Given the description of an element on the screen output the (x, y) to click on. 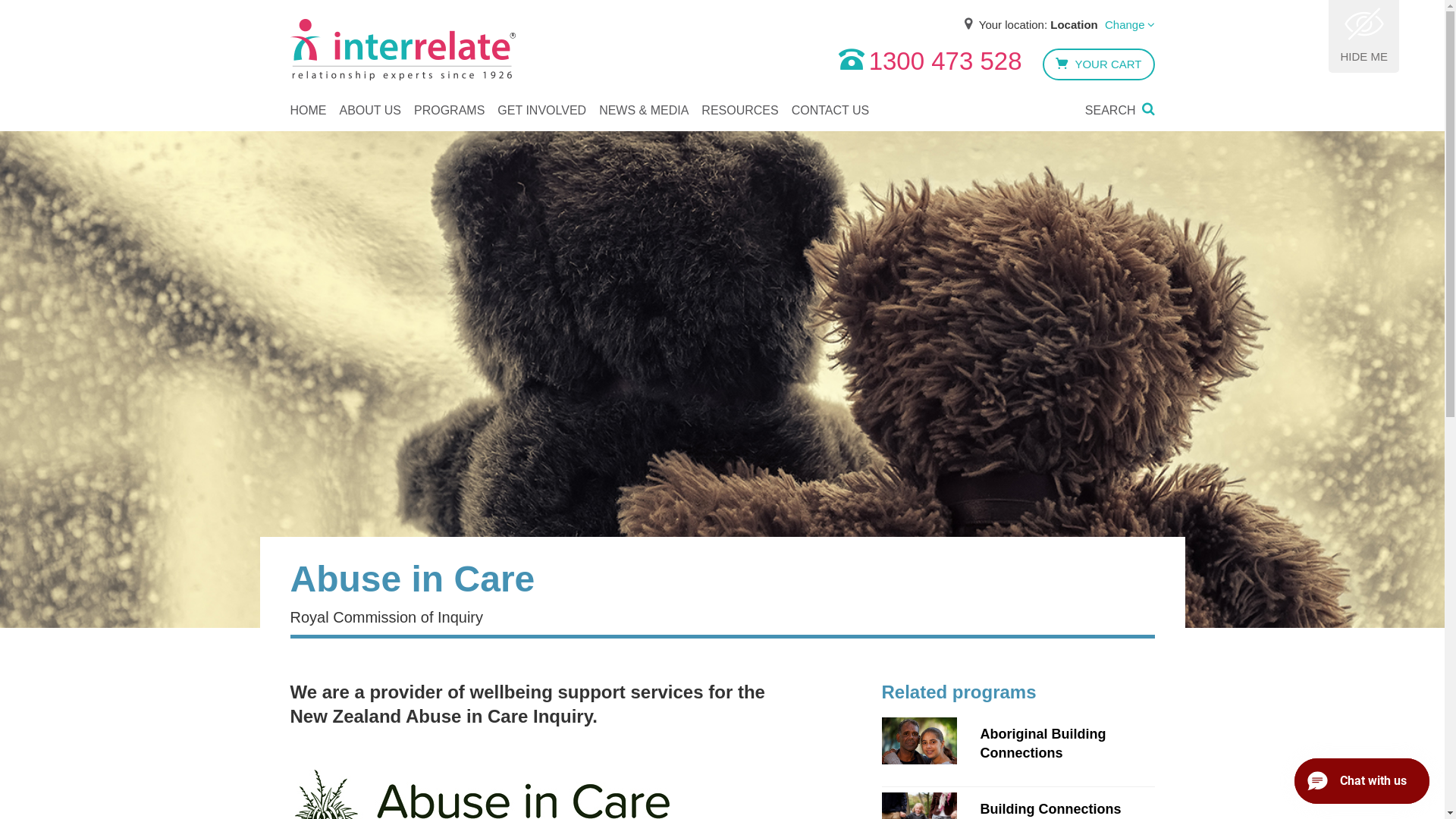
CONTACT US Element type: text (830, 107)
HOME Element type: text (307, 107)
HIDE ME Element type: text (1363, 36)
Aboriginal Building Connections Element type: text (1017, 749)
YOUR CART Element type: text (1098, 64)
Interrelate Element type: hover (401, 49)
PROGRAMS Element type: text (449, 107)
NEWS & MEDIA Element type: text (643, 107)
GET INVOLVED Element type: text (541, 107)
Acquire Live Chat Element type: hover (1361, 780)
SEARCH Element type: text (1119, 107)
ABOUT US Element type: text (370, 107)
RESOURCES Element type: text (739, 107)
